Given the description of an element on the screen output the (x, y) to click on. 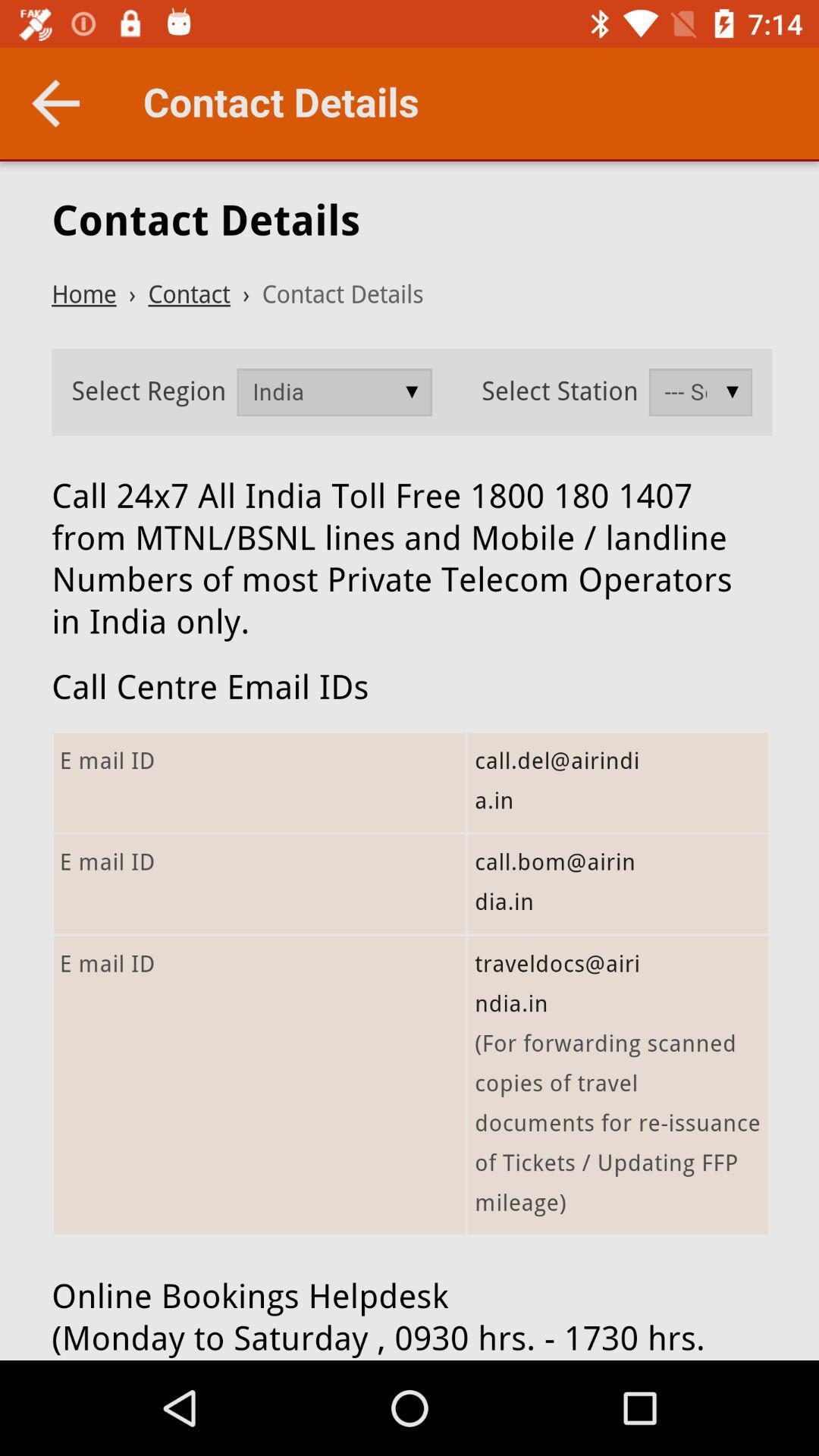
go back option (55, 103)
